Given the description of an element on the screen output the (x, y) to click on. 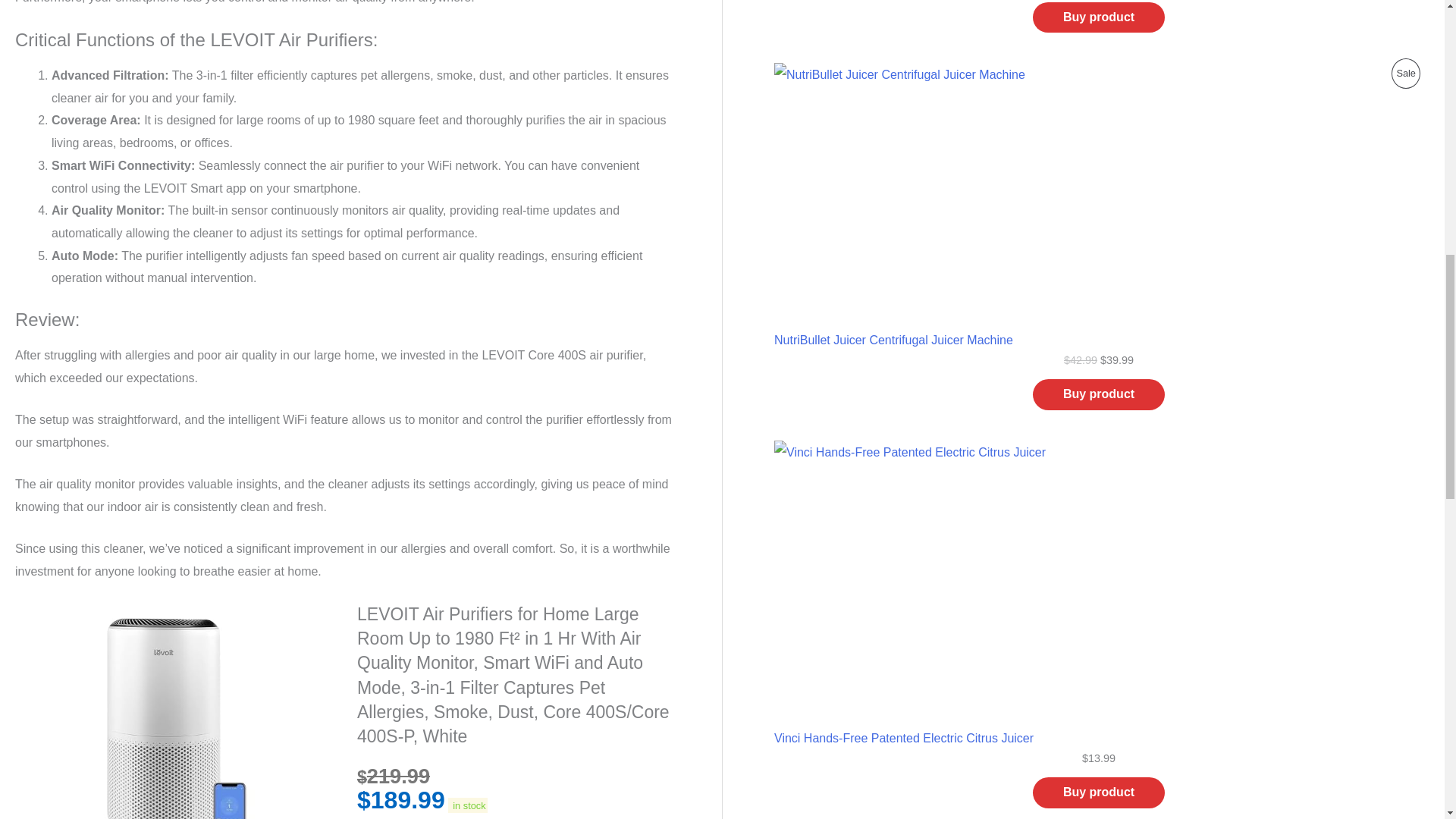
Last updated on August 3, 2024 8:50 am (467, 805)
